Given the description of an element on the screen output the (x, y) to click on. 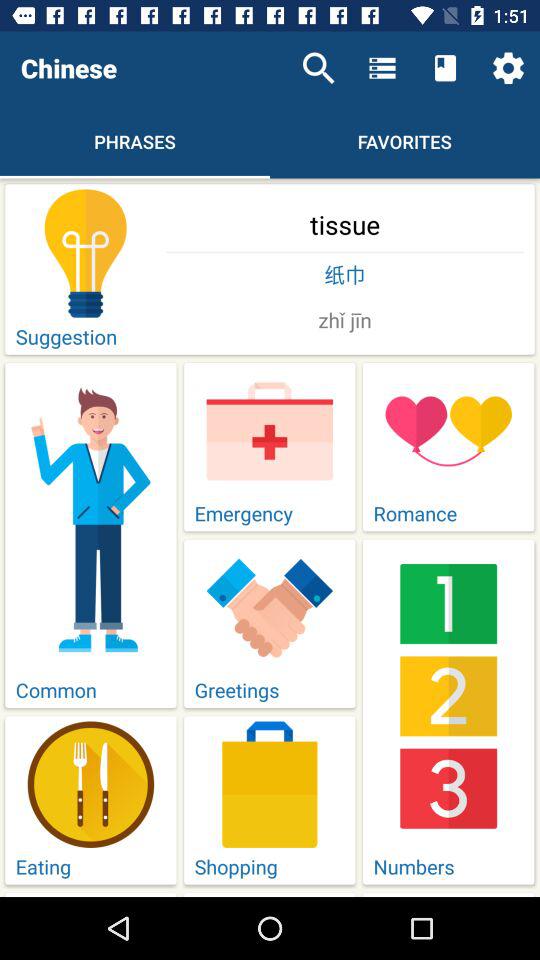
choose item above the tissue item (318, 67)
